Given the description of an element on the screen output the (x, y) to click on. 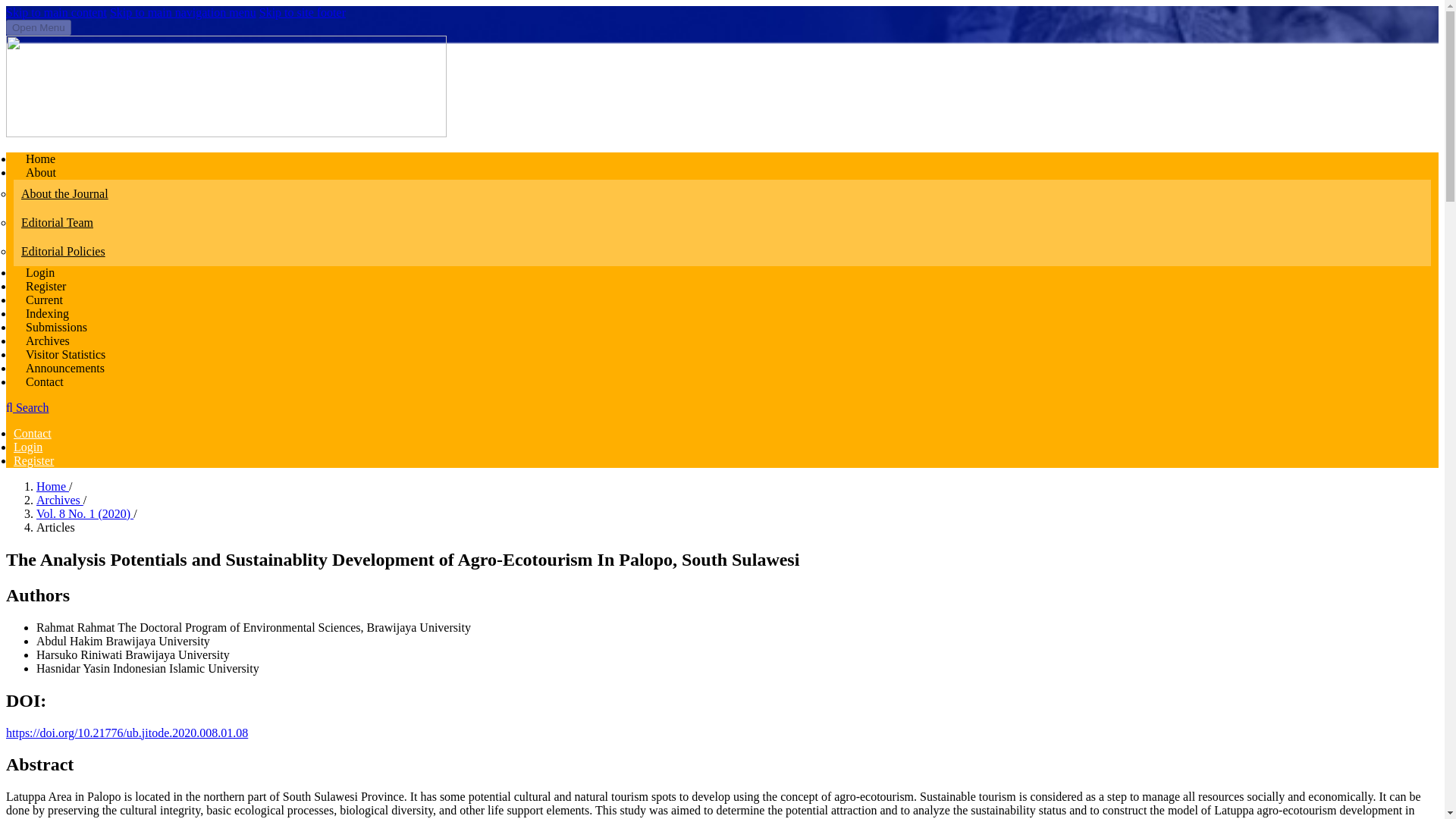
Contact (45, 381)
Indexing (47, 313)
Login (27, 447)
Announcements (65, 367)
About the Journal (722, 193)
Home (40, 158)
Register (33, 460)
About (41, 172)
Contact (31, 433)
Skip to main content (55, 11)
